Given the description of an element on the screen output the (x, y) to click on. 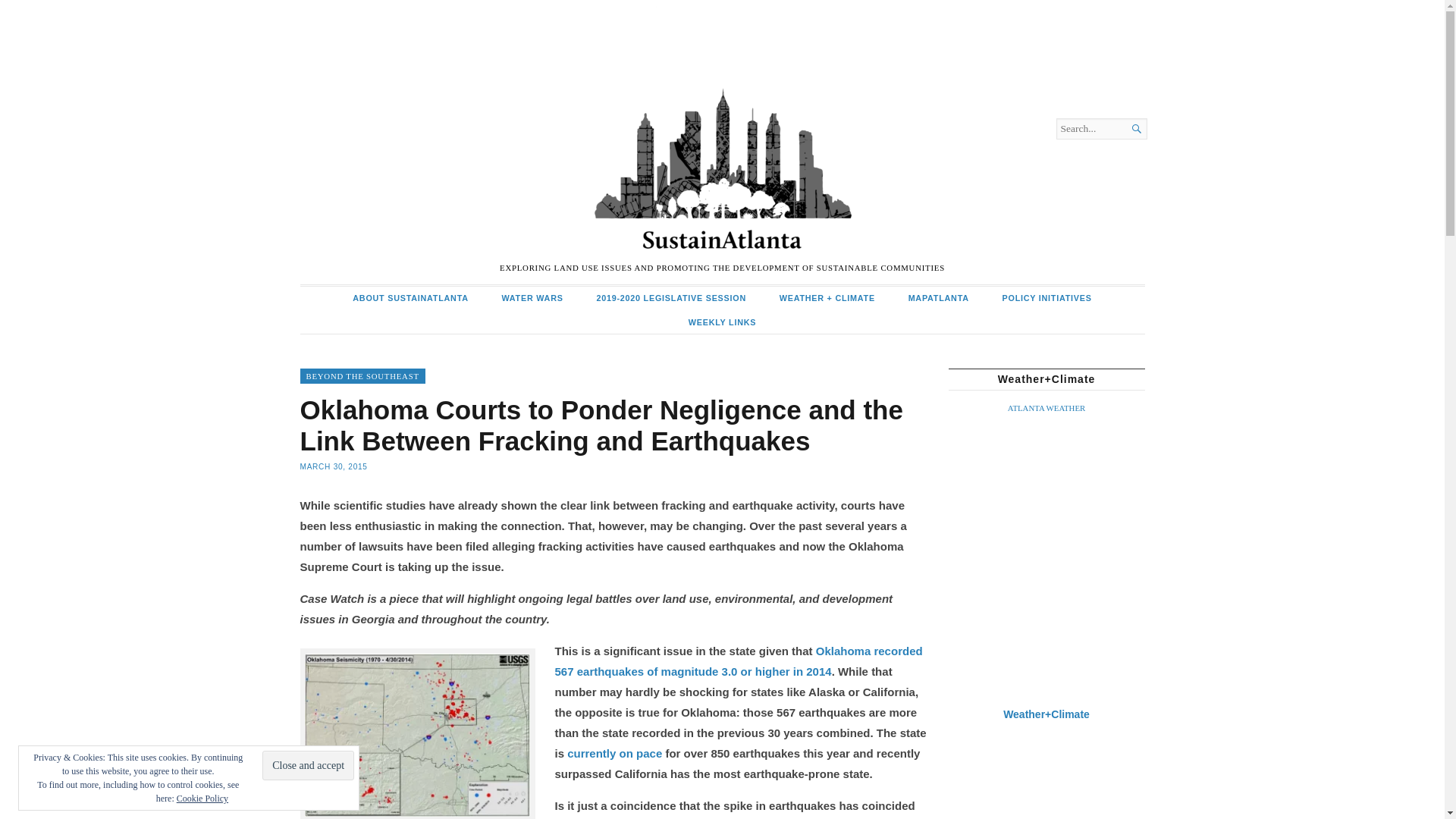
WATER WARS (532, 298)
BEYOND THE SOUTHEAST (362, 376)
2019-2020 LEGISLATIVE SESSION (670, 298)
WEEKLY LINKS (721, 321)
currently on pace (614, 753)
Close and accept (307, 765)
4:58 pm (333, 466)
POLICY INITIATIVES (1046, 298)
MARCH 30, 2015 (333, 466)
